Given the description of an element on the screen output the (x, y) to click on. 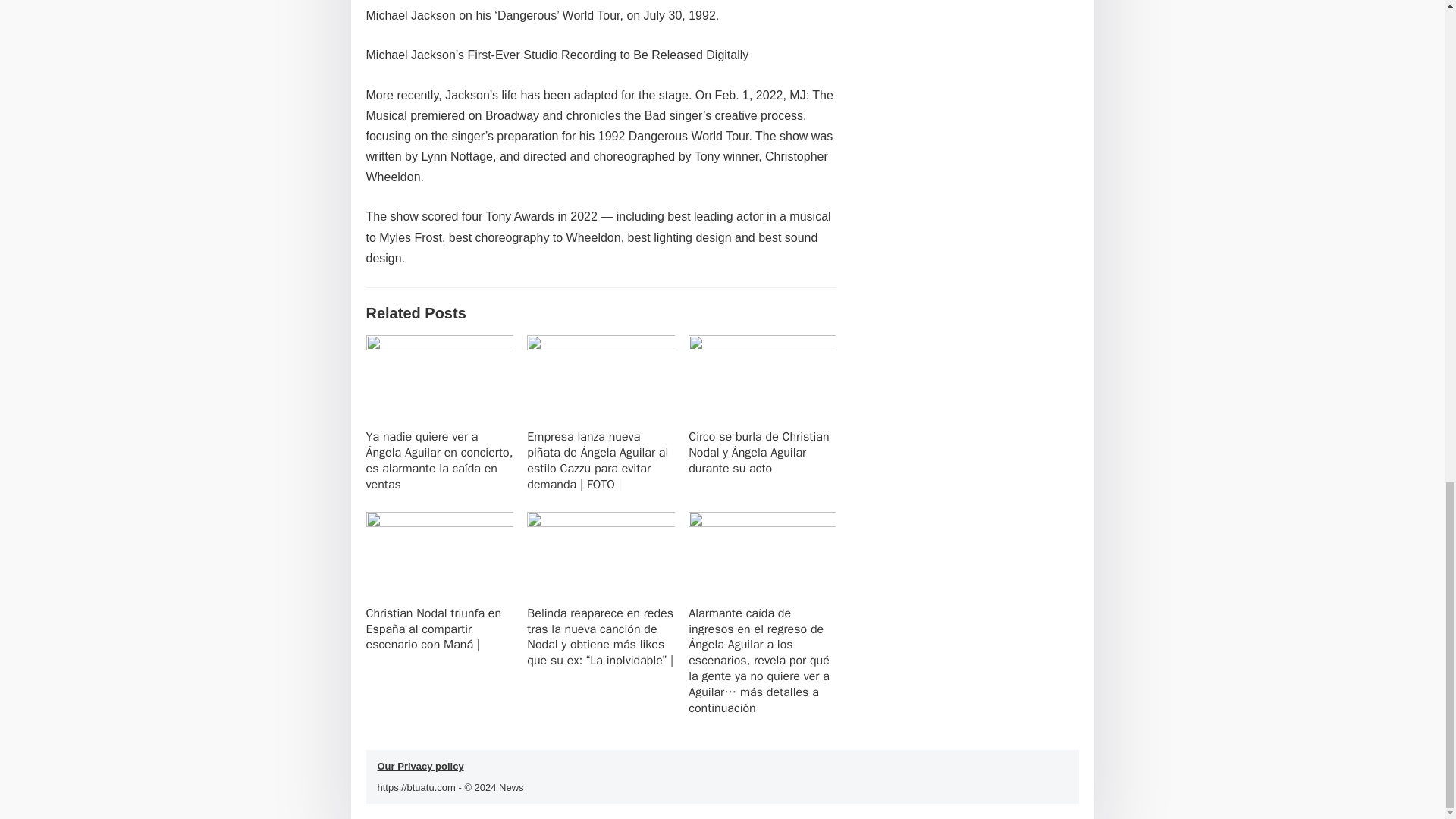
Our Privacy policy (420, 766)
